Given the description of an element on the screen output the (x, y) to click on. 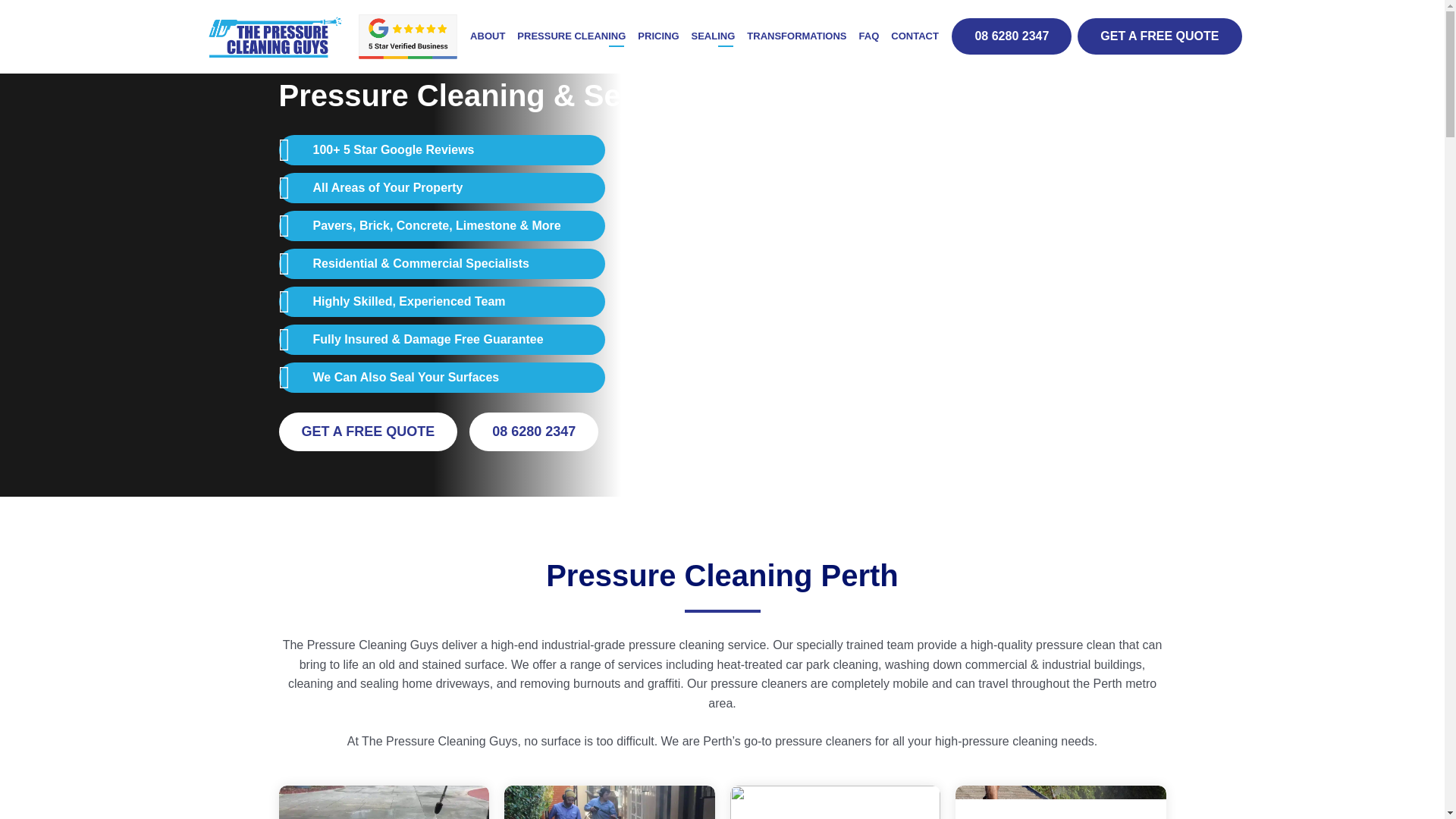
CONTACT (914, 36)
08 6280 2347 (1011, 36)
08 6280 2347 (533, 431)
GET A FREE QUOTE (368, 431)
GET A FREE QUOTE (1159, 36)
FAQ (869, 36)
TRANSFORMATIONS (796, 36)
ABOUT (487, 36)
SEALING (713, 36)
PRICING (657, 36)
